Given the description of an element on the screen output the (x, y) to click on. 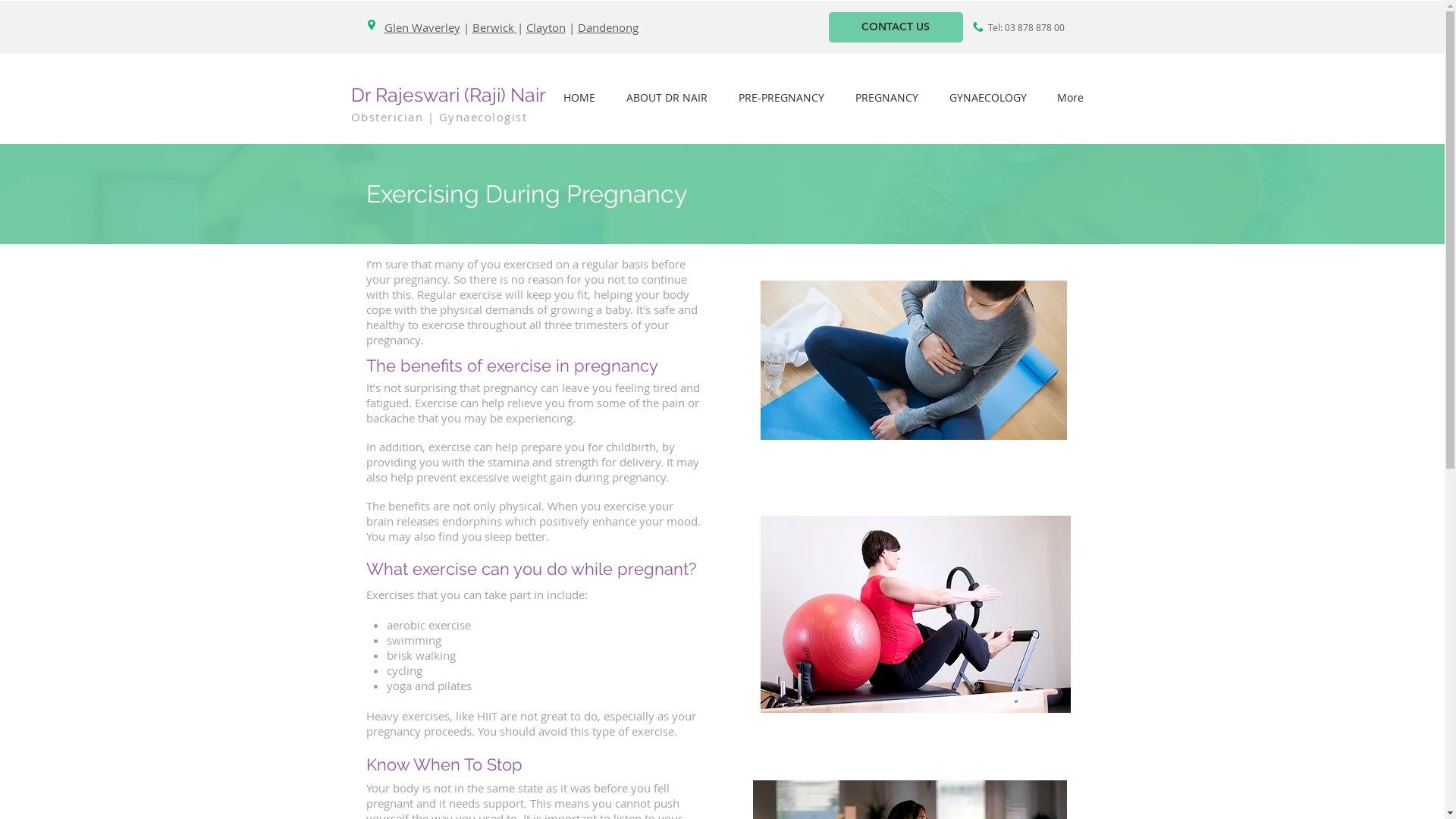
GYNAECOLOGY Element type: text (987, 97)
Dr Rajeswari (Raji) Nair  Element type: text (449, 94)
Glen Waverley Element type: text (421, 26)
PREGNANCY Element type: text (887, 97)
Obsterician | Gynaecologist Element type: text (438, 116)
Dandenong Element type: text (607, 26)
ABOUT DR NAIR Element type: text (667, 97)
Clayton Element type: text (545, 26)
PRE-PREGNANCY Element type: text (781, 97)
CONTACT US Element type: text (895, 27)
Berwick Element type: text (493, 26)
HOME Element type: text (578, 97)
